Given the description of an element on the screen output the (x, y) to click on. 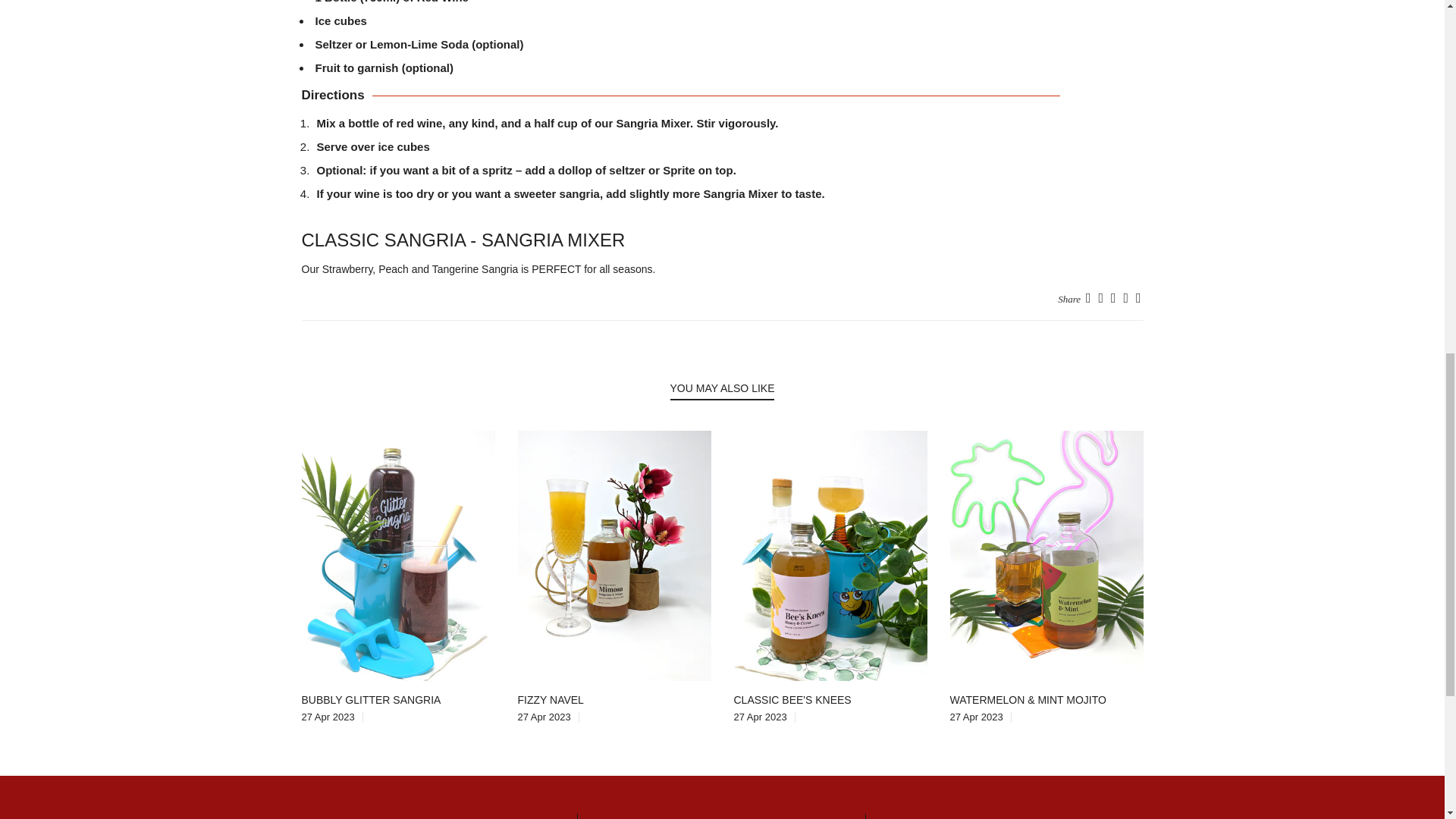
CLASSIC SANGRIA - SANGRIA MIXER (463, 240)
FIZZY NAVEL (549, 699)
BUBBLY GLITTER SANGRIA (371, 699)
CLASSIC BEE'S KNEES (792, 699)
